Given the description of an element on the screen output the (x, y) to click on. 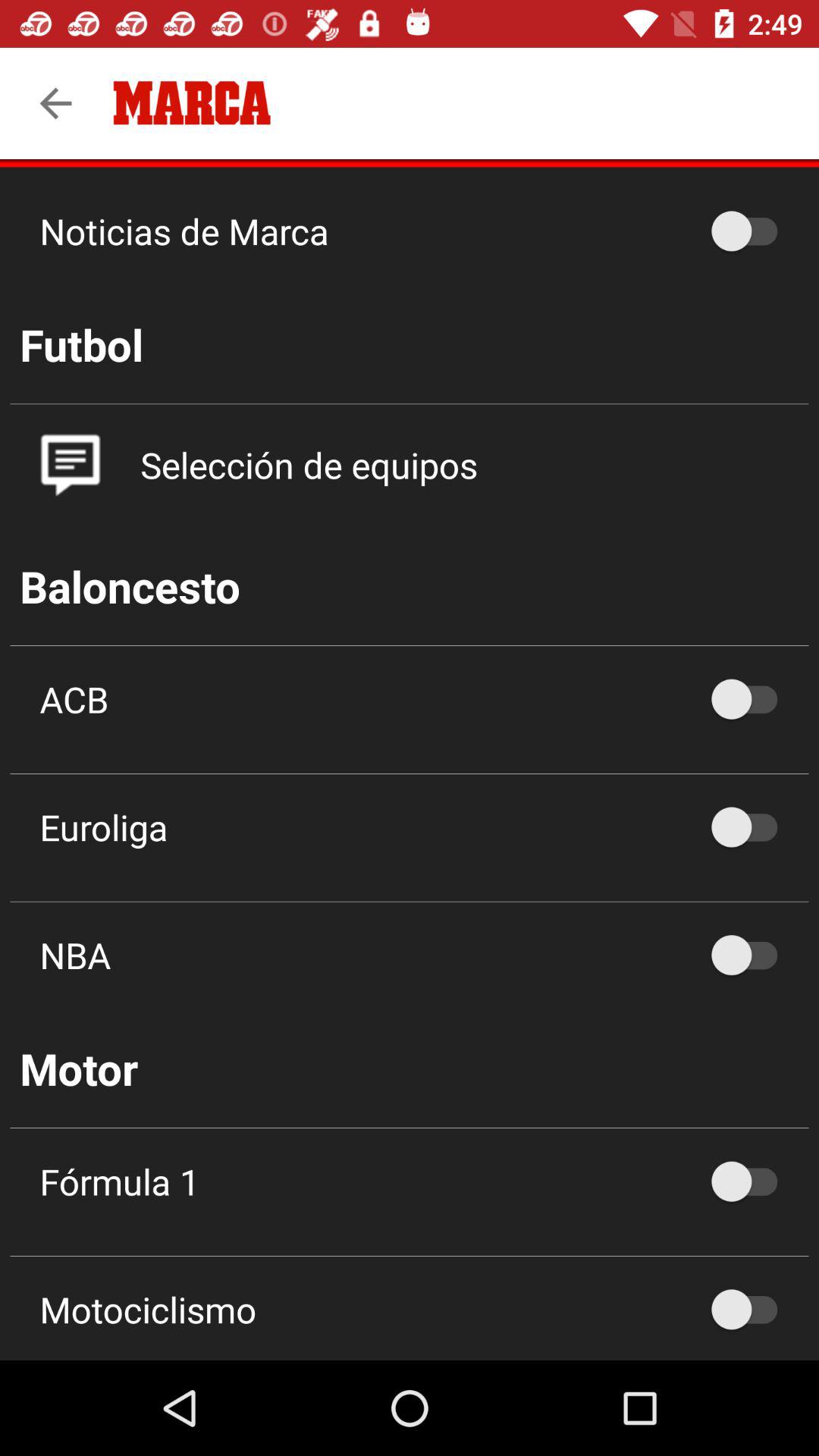
select the off option (751, 1309)
